Given the description of an element on the screen output the (x, y) to click on. 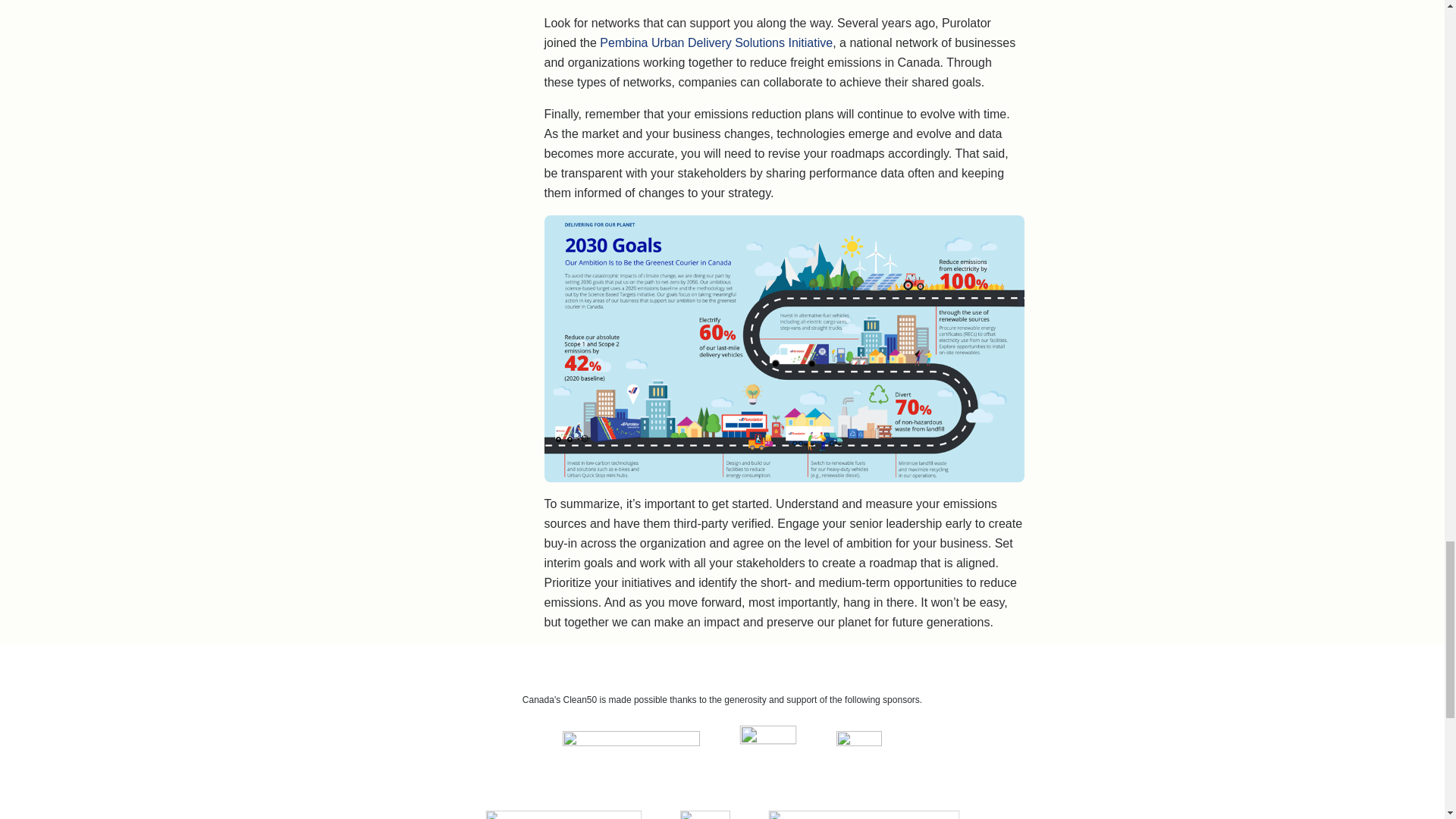
The Globe and Mail (858, 753)
MACKENZIE Investments (577, 814)
Delta Management (631, 753)
HP Canada (767, 753)
Vancity Community Investment Bank (881, 814)
Pembina Urban Delivery Solutions Initiative (715, 42)
PWC (709, 814)
